Given the description of an element on the screen output the (x, y) to click on. 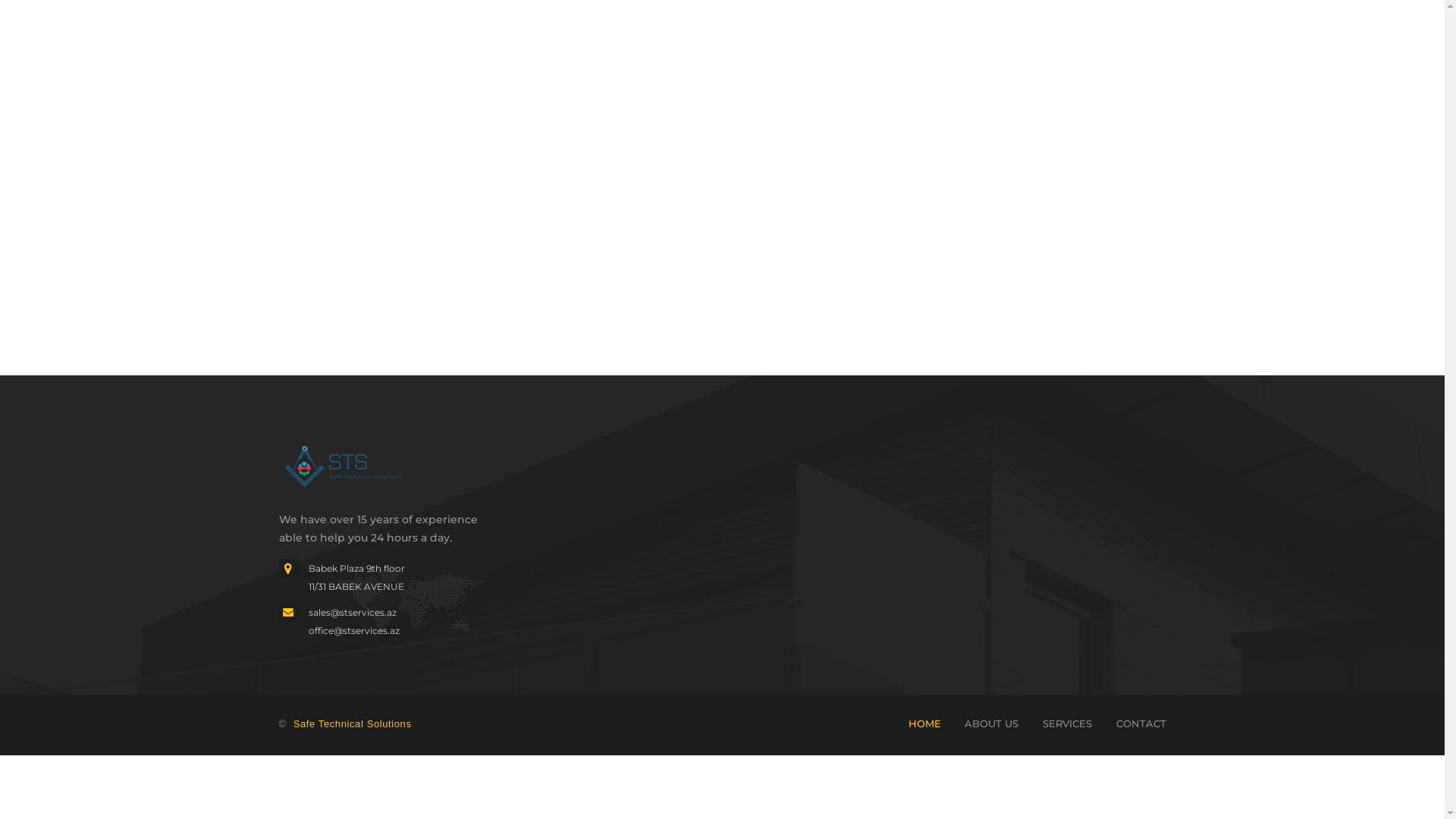
SERVICES Element type: text (1067, 723)
HOME Element type: text (924, 723)
ABOUT US Element type: text (991, 723)
Safe Technical Solutions Element type: text (352, 723)
CONTACT Element type: text (1141, 723)
